Given the description of an element on the screen output the (x, y) to click on. 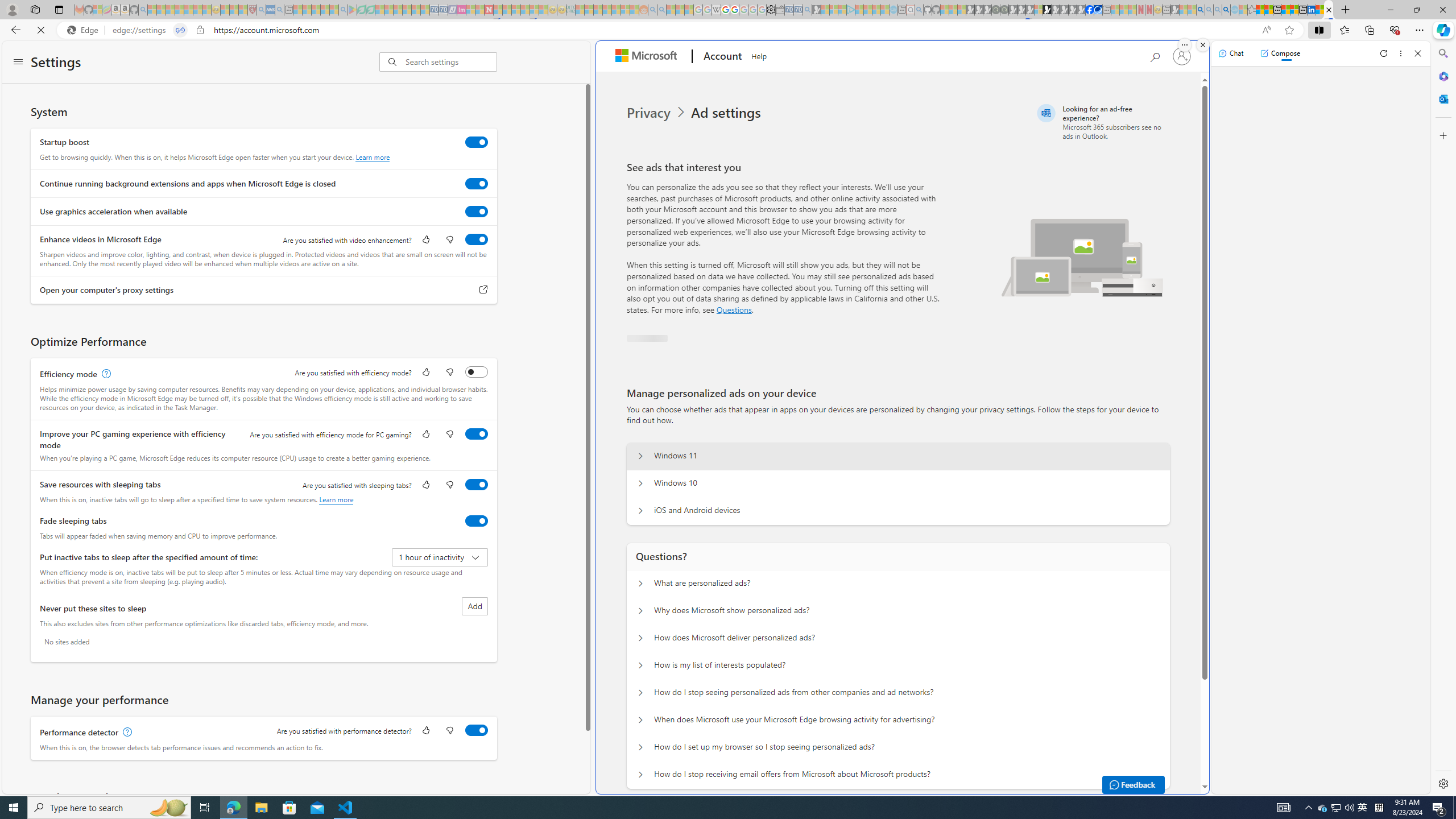
utah sues federal government - Search - Sleeping (279, 9)
Cheap Hotels - Save70.com - Sleeping (442, 9)
Privacy Help Center - Policies Help (725, 9)
Like (425, 731)
Performance detector (476, 730)
Nordace | Facebook (1089, 9)
Microsoft (648, 56)
